Given the description of an element on the screen output the (x, y) to click on. 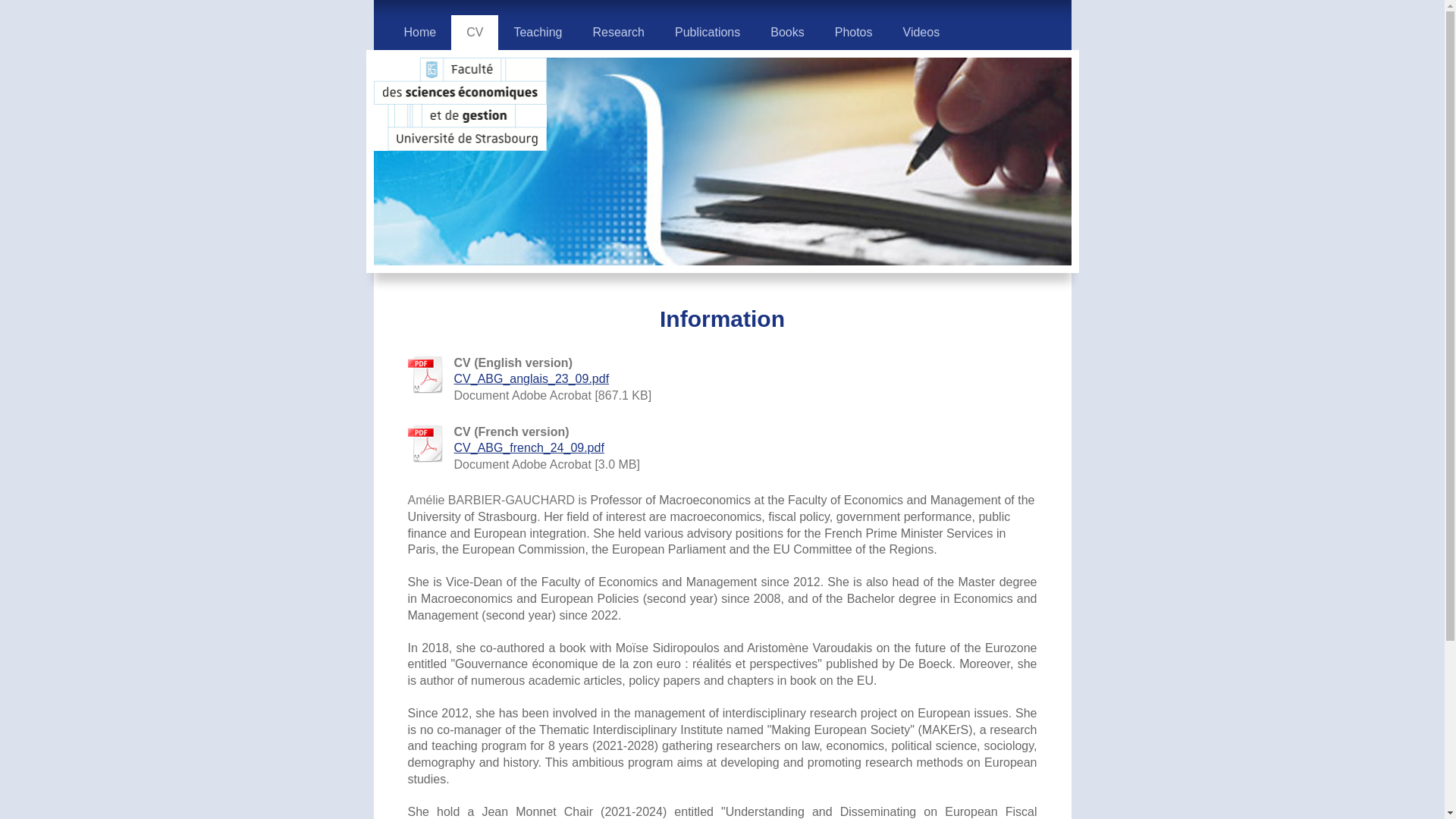
Publications (707, 32)
Videos (921, 32)
Photos (853, 32)
Home (419, 32)
Research (617, 32)
Teaching (536, 32)
Books (786, 32)
CV (474, 32)
